Given the description of an element on the screen output the (x, y) to click on. 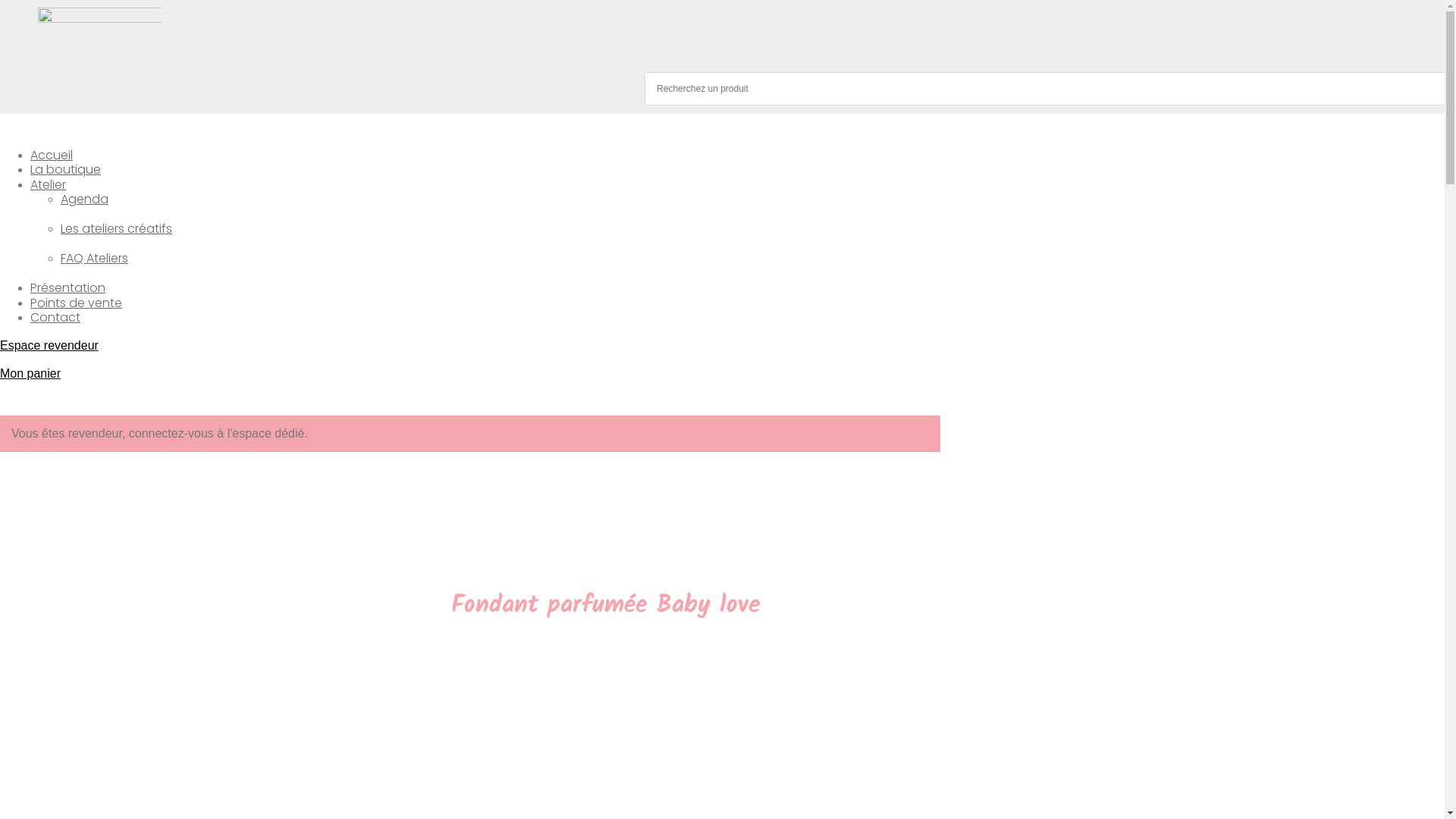
Mon panier Element type: text (30, 373)
Atelier Element type: text (55, 184)
logo Element type: hover (99, 39)
Accueil Element type: text (58, 154)
Contact Element type: text (55, 317)
FAQ Ateliers Element type: text (94, 257)
Points de vente Element type: text (83, 302)
Espace revendeur Element type: text (49, 344)
Agenda Element type: text (91, 198)
La boutique Element type: text (73, 169)
